Given the description of an element on the screen output the (x, y) to click on. 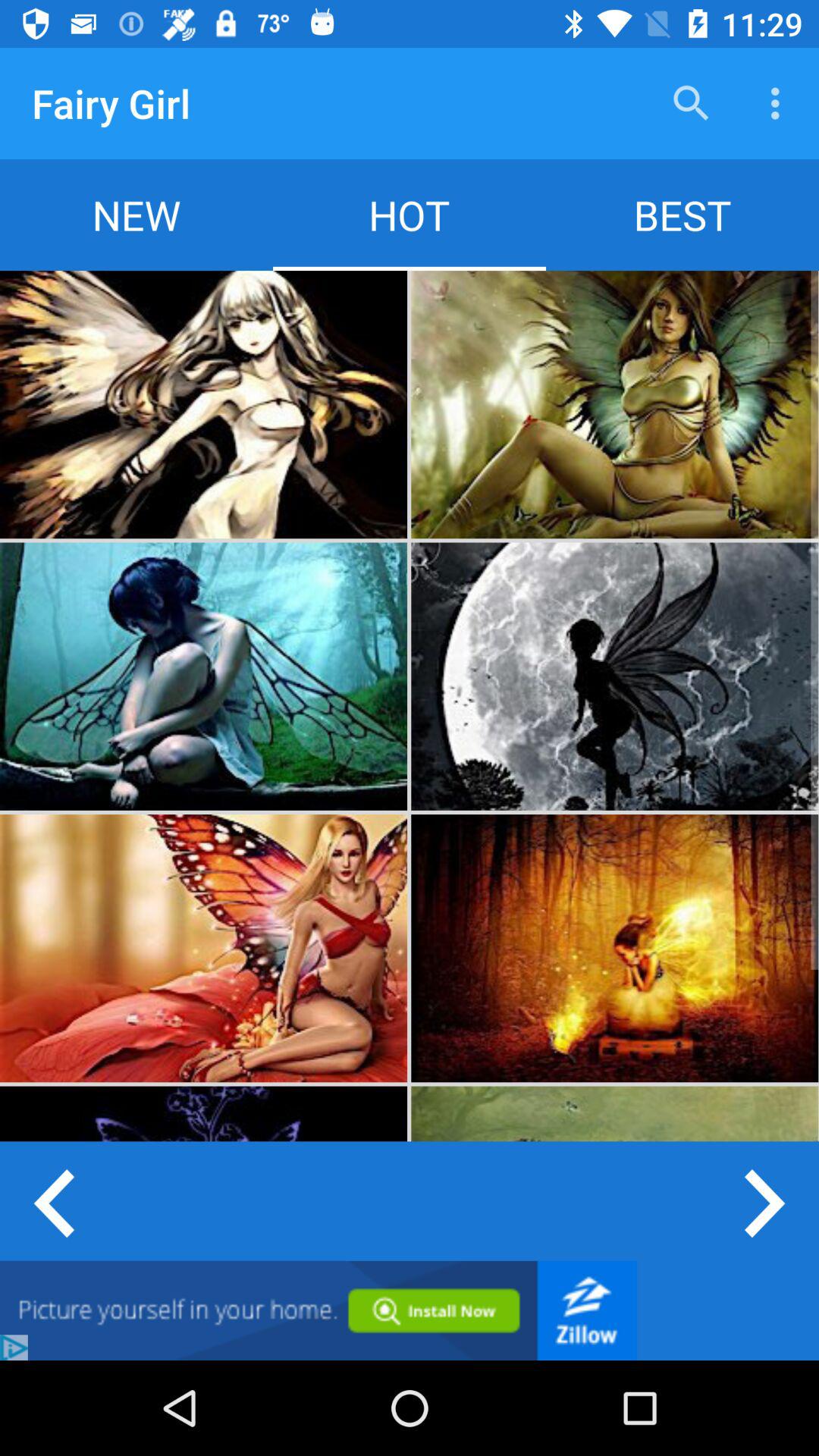
click advertisement (318, 1310)
